Given the description of an element on the screen output the (x, y) to click on. 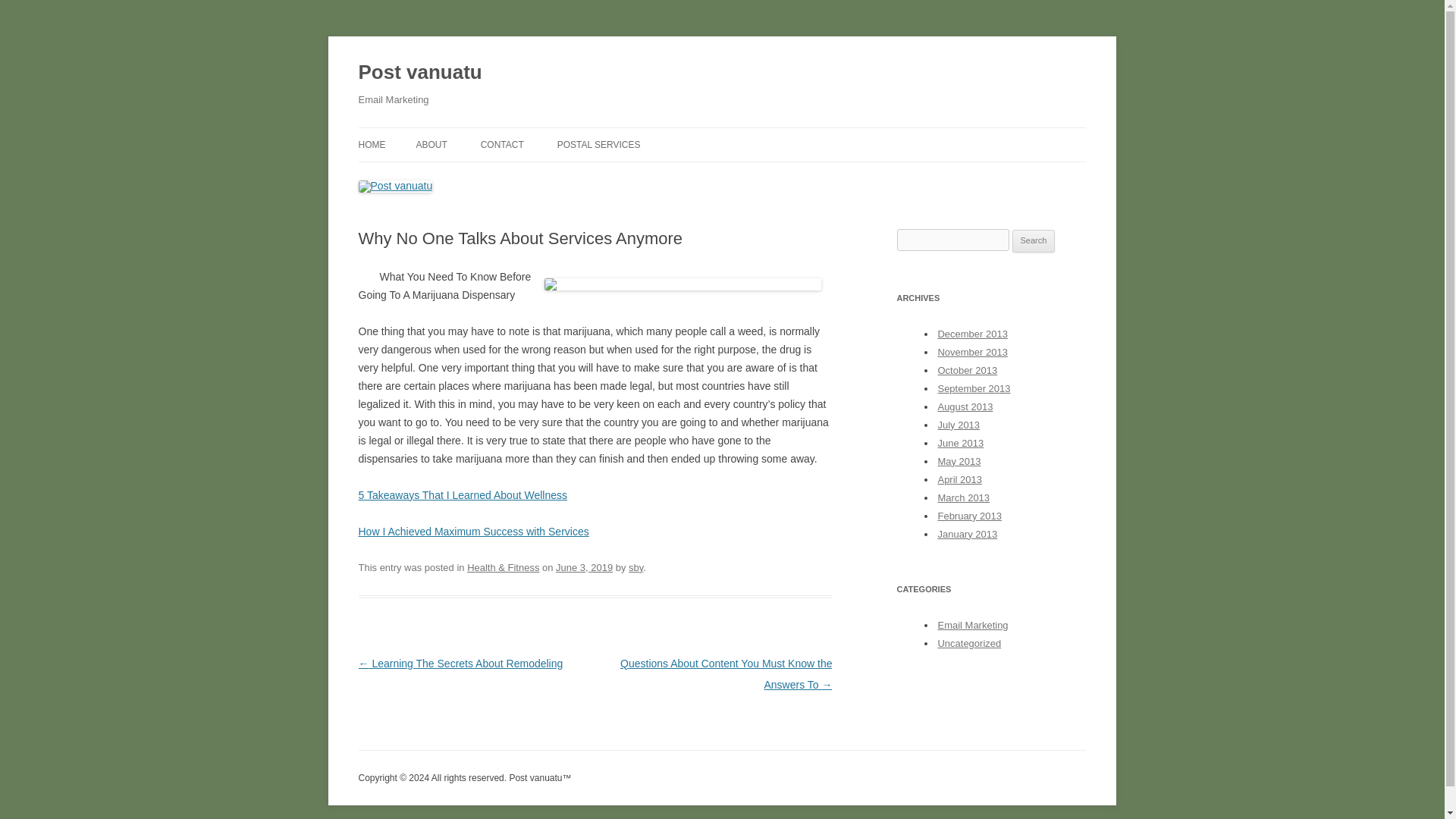
February 2013 (969, 515)
April 2013 (959, 479)
2:27 pm (584, 567)
August 2013 (964, 406)
February 2013 (969, 515)
June 2013 (960, 442)
July 2013 (958, 424)
January 2013 (967, 533)
August 2013 (964, 406)
